Given the description of an element on the screen output the (x, y) to click on. 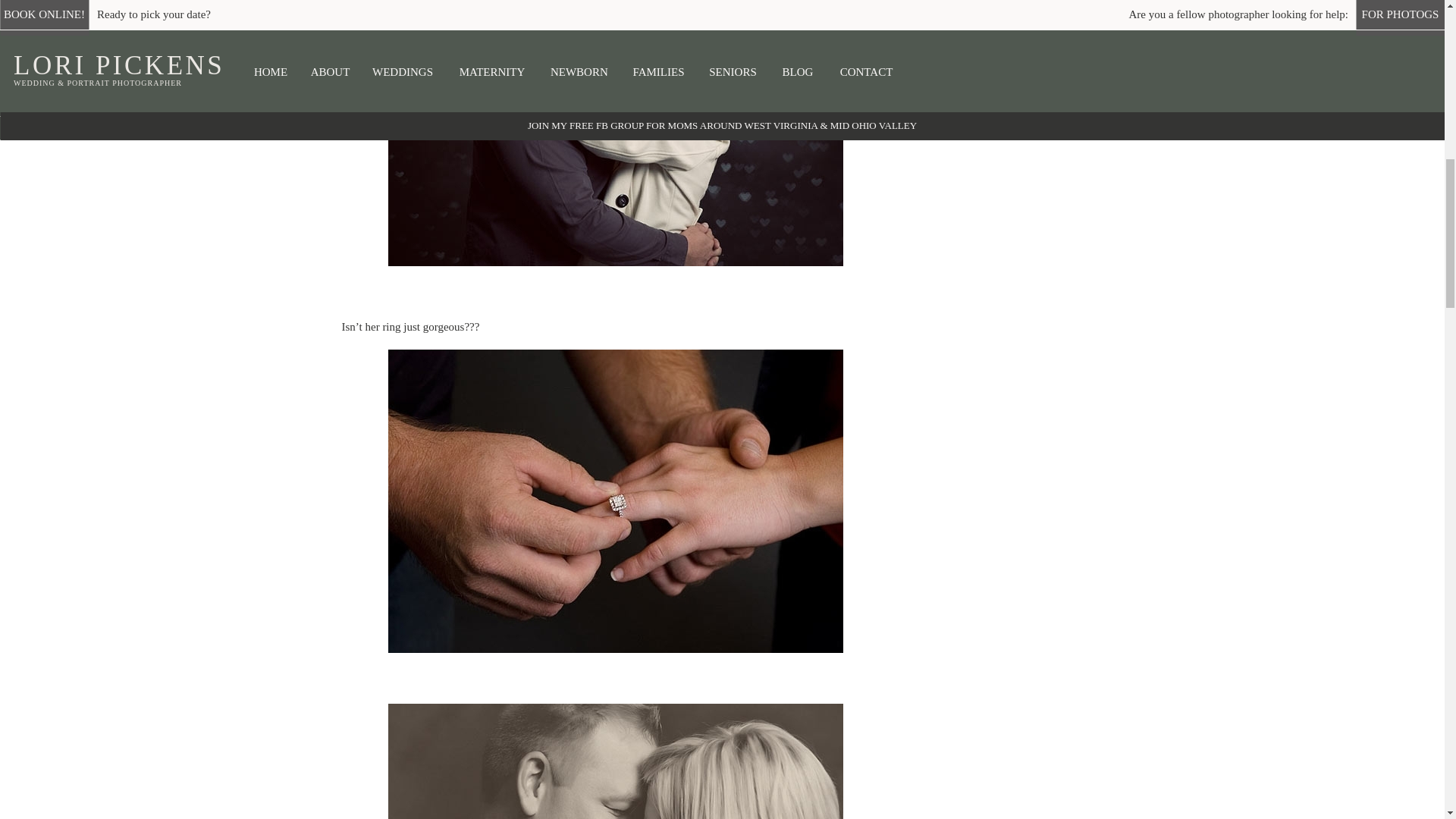
NEWBORNS (1023, 38)
SENIORS (1122, 38)
